Given the description of an element on the screen output the (x, y) to click on. 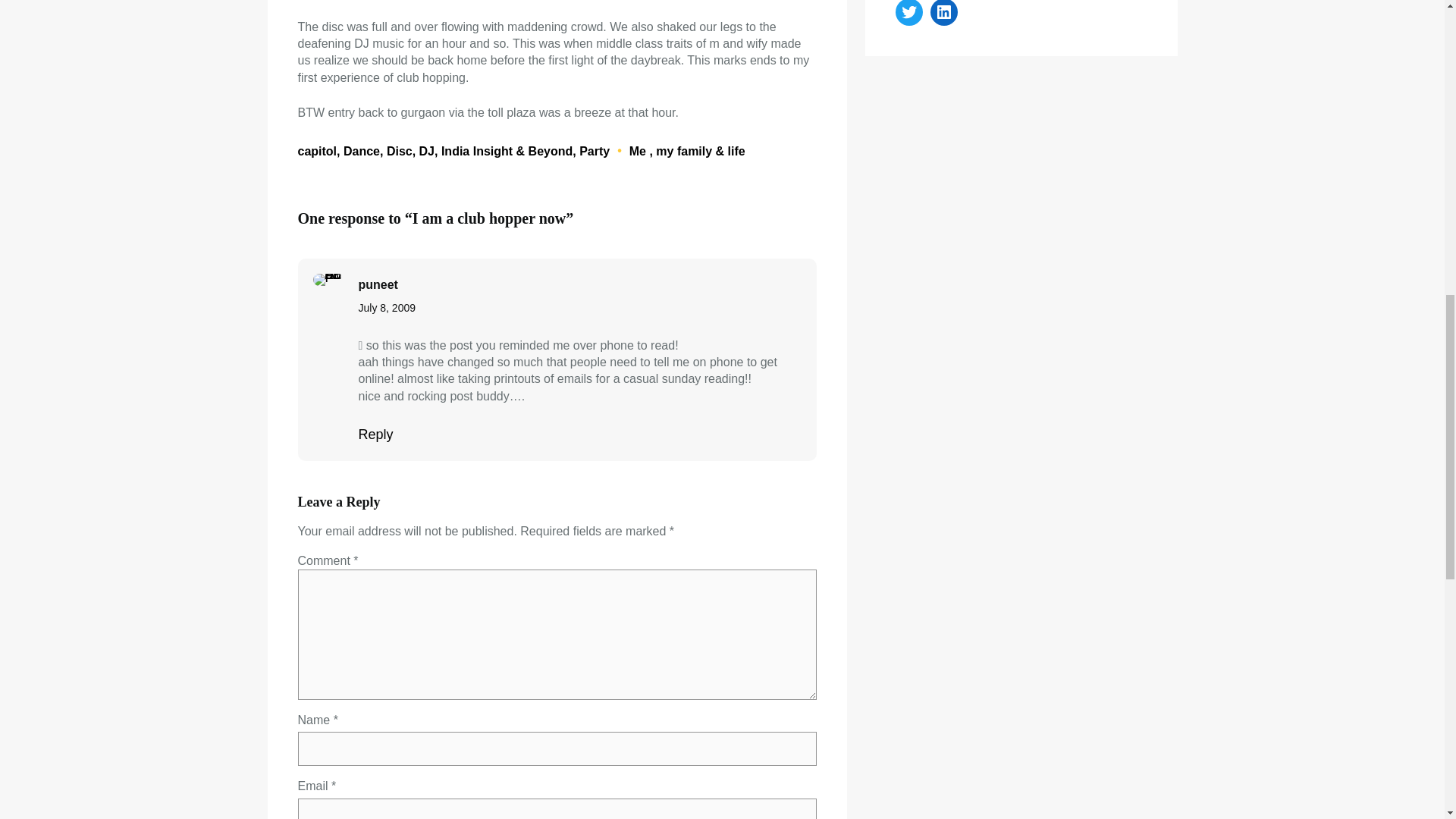
Party (594, 150)
LinkedIn (944, 12)
Dance (361, 150)
DJ (426, 150)
capitol (316, 150)
puneet (377, 283)
Reply (375, 434)
Disc (399, 150)
Twitter (909, 12)
July 8, 2009 (386, 307)
